Given the description of an element on the screen output the (x, y) to click on. 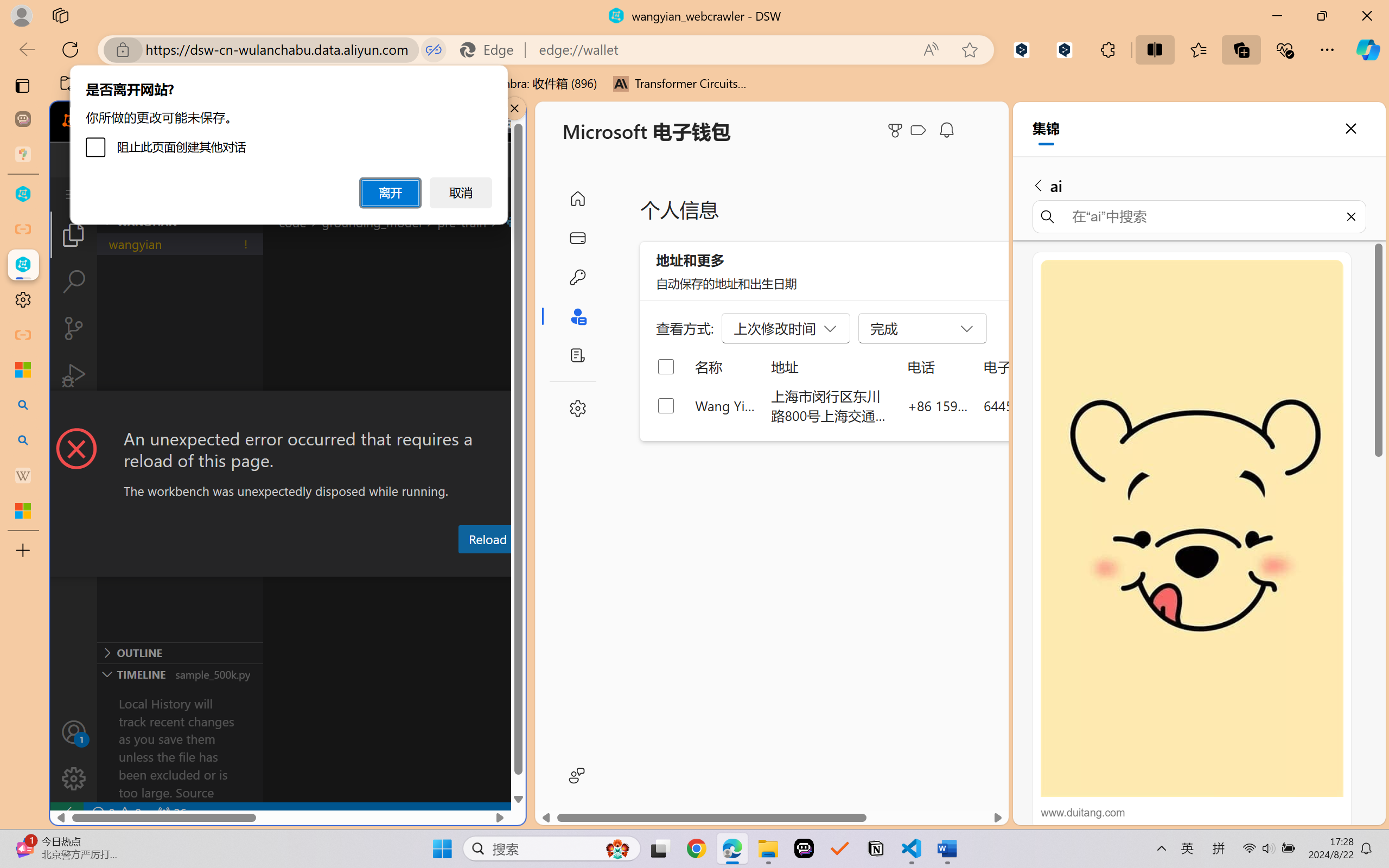
Class: actions-container (287, 410)
+86 159 0032 4640 (938, 405)
